Given the description of an element on the screen output the (x, y) to click on. 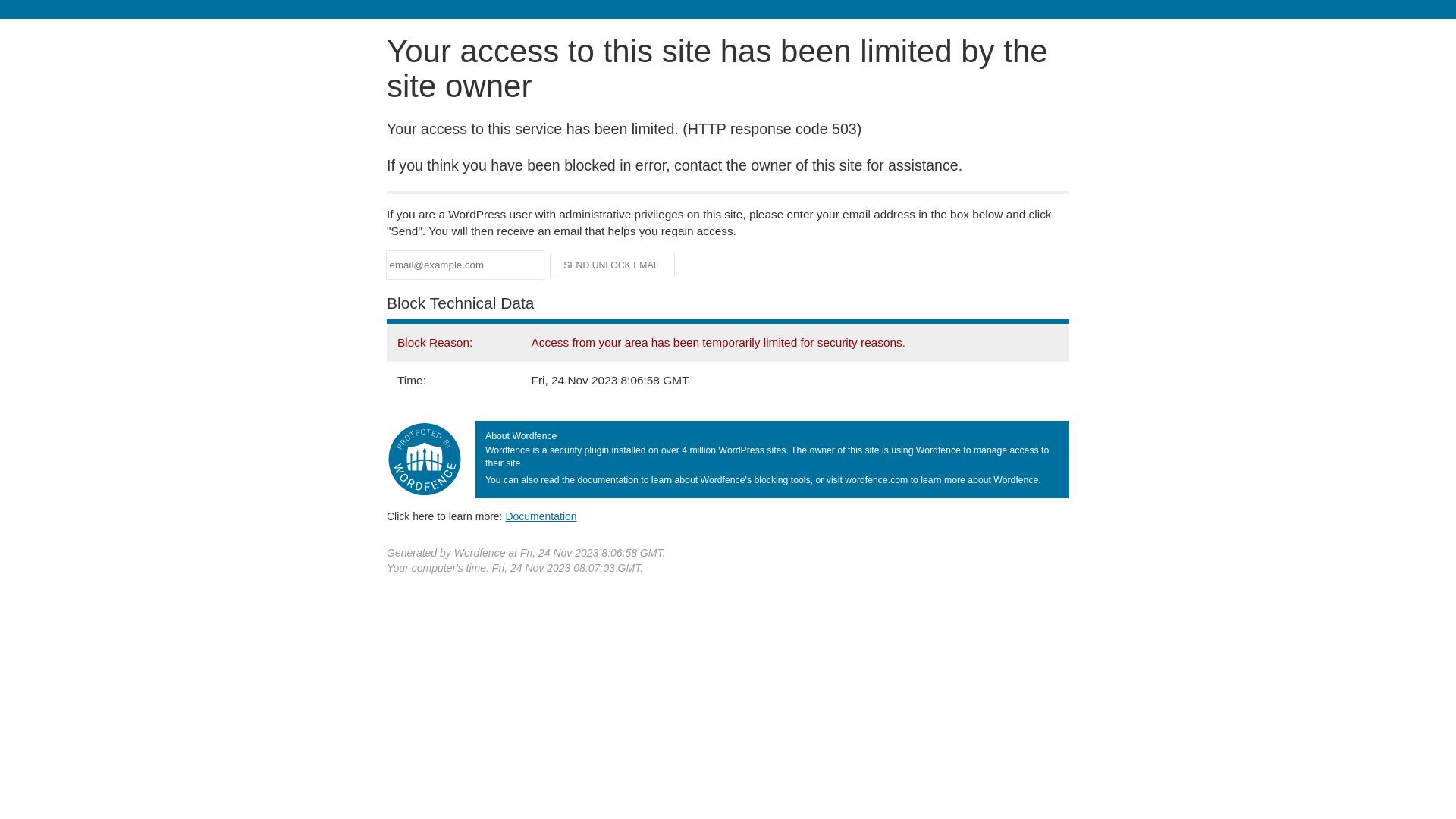
Send Unlock Email Element type: text (612, 265)
Documentation Element type: text (540, 516)
